Given the description of an element on the screen output the (x, y) to click on. 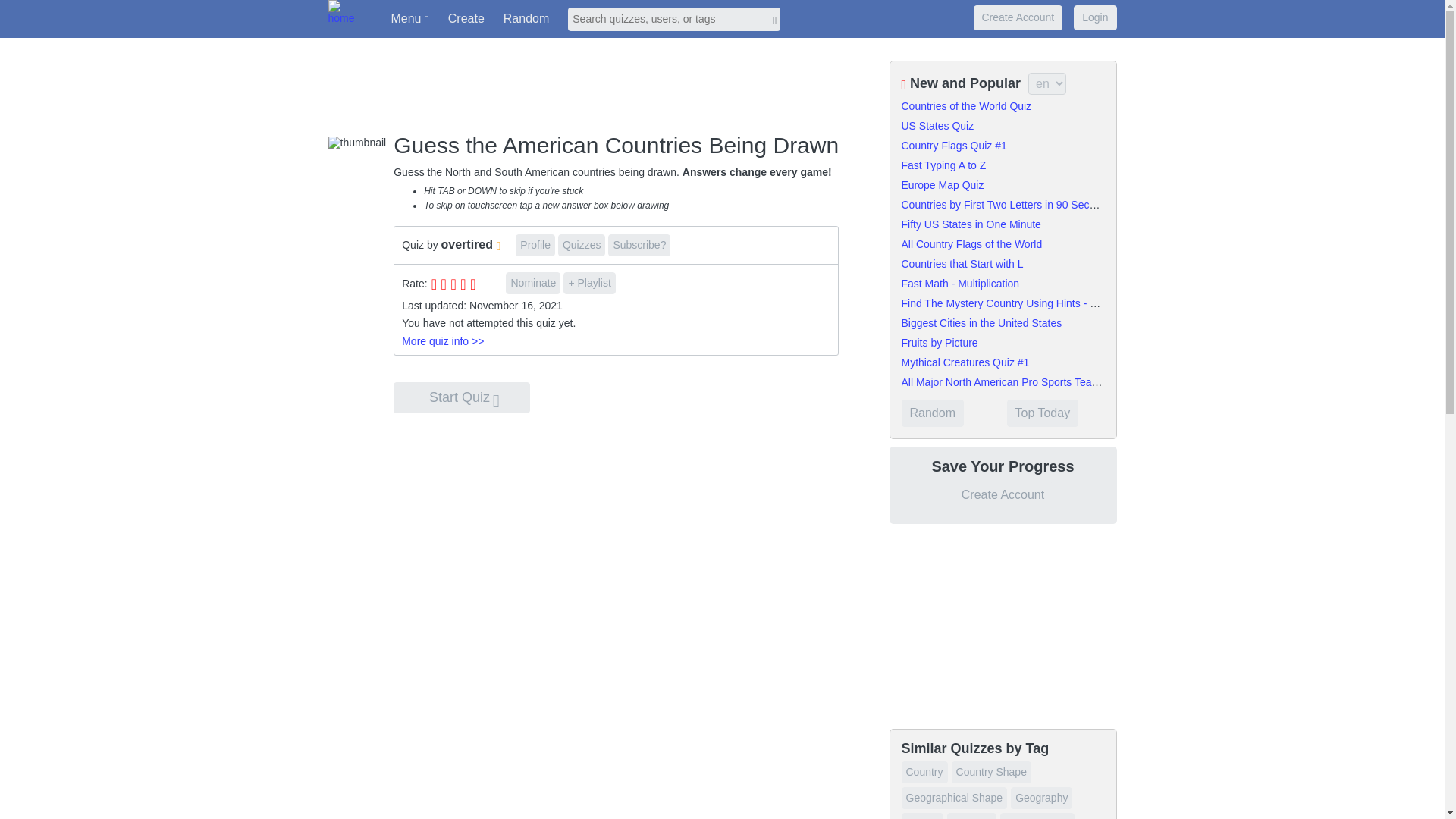
Random (526, 18)
Search (673, 19)
Login (1095, 16)
Create (465, 18)
Random (525, 18)
Create Account (1018, 16)
Login (1095, 18)
Menu (409, 19)
Create (466, 18)
Create Account (1018, 18)
